Given the description of an element on the screen output the (x, y) to click on. 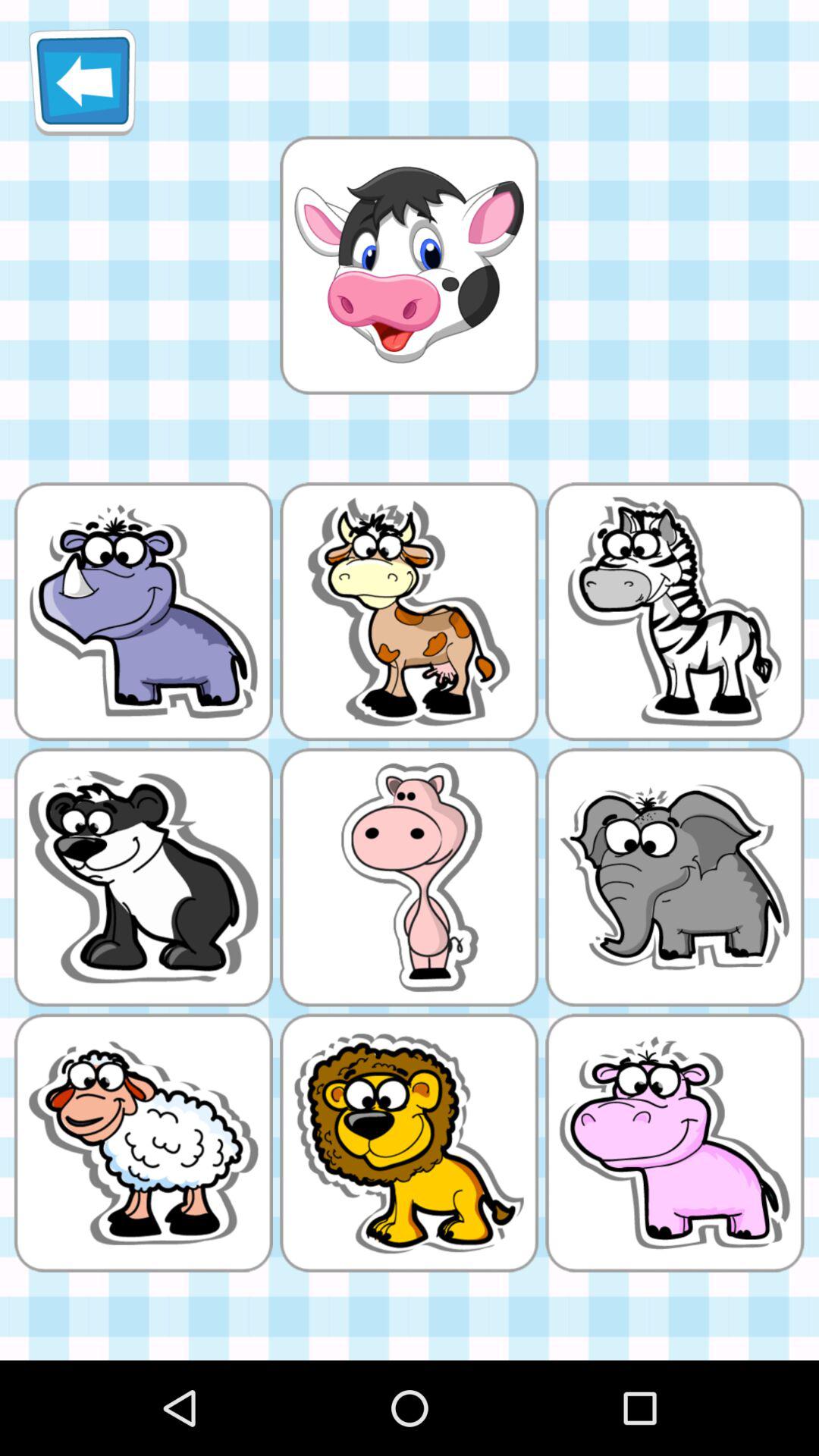
choose one (408, 265)
